Given the description of an element on the screen output the (x, y) to click on. 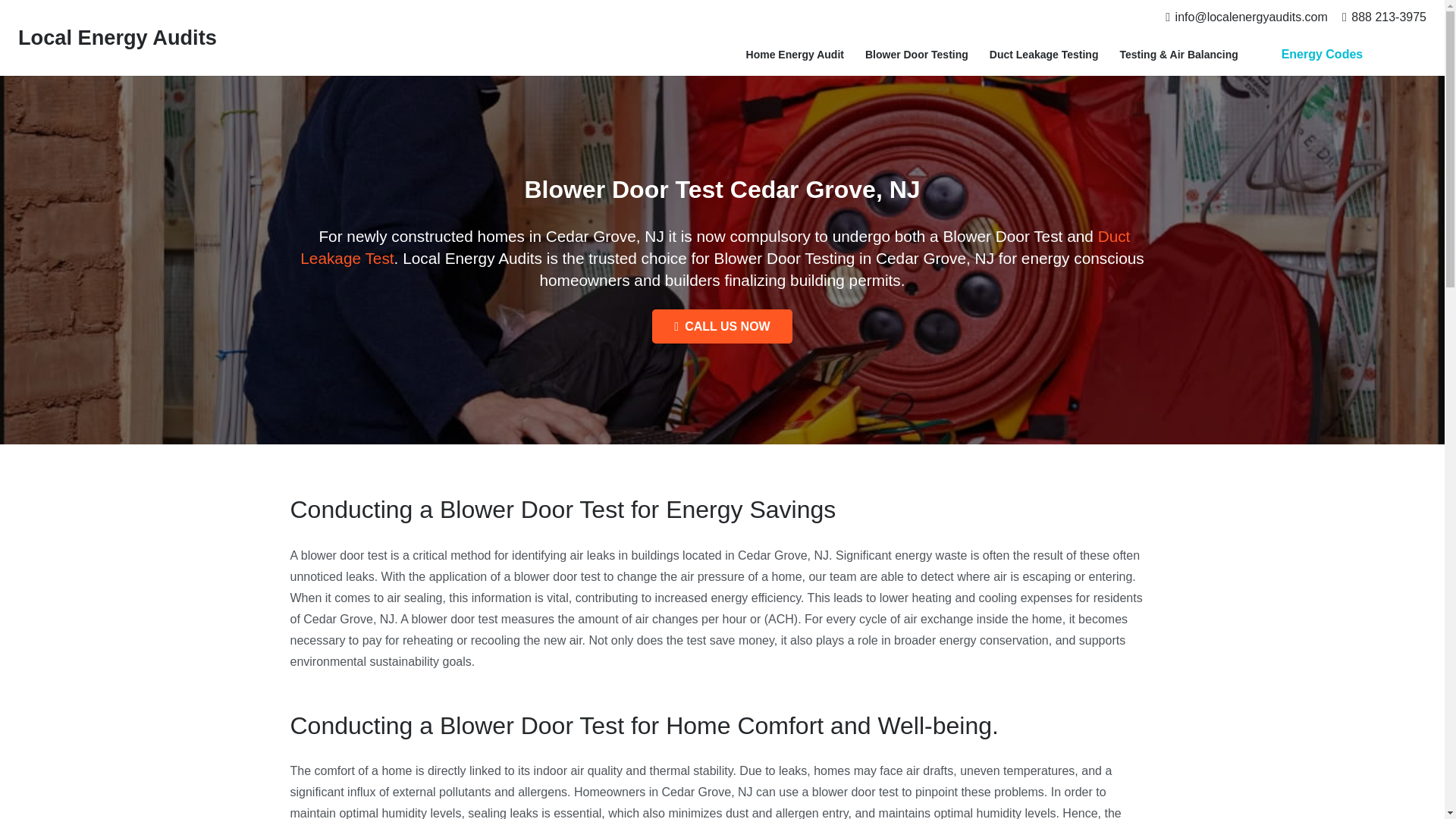
Local Energy Audits (116, 37)
Energy Codes (1321, 54)
888 213-3975 (1384, 16)
Blower Door Testing (916, 54)
Duct Leakage Test (714, 246)
CALL US NOW (722, 326)
Home Energy Audit (794, 54)
Duct Leakage Testing (1043, 54)
